Given the description of an element on the screen output the (x, y) to click on. 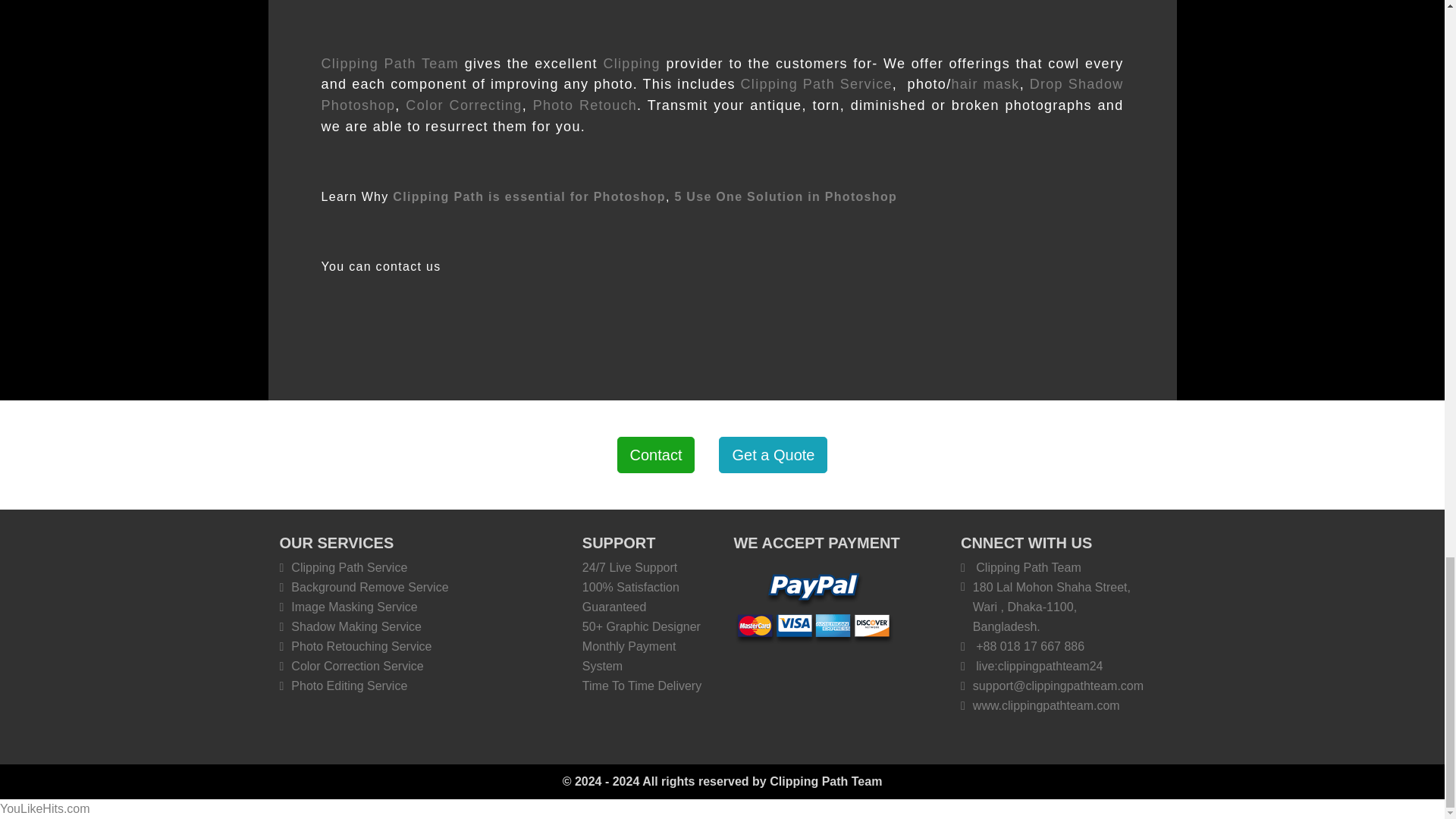
Clipping Path Team (390, 63)
5 Use One Solution in Photoshop (785, 196)
Clipping (630, 63)
hair mask (984, 83)
Photo Retouch (584, 105)
Contact (656, 454)
Clipping Path Service (816, 83)
Get Twitter Followers (45, 808)
Color Correcting (463, 105)
Get a Quote (773, 454)
